Given the description of an element on the screen output the (x, y) to click on. 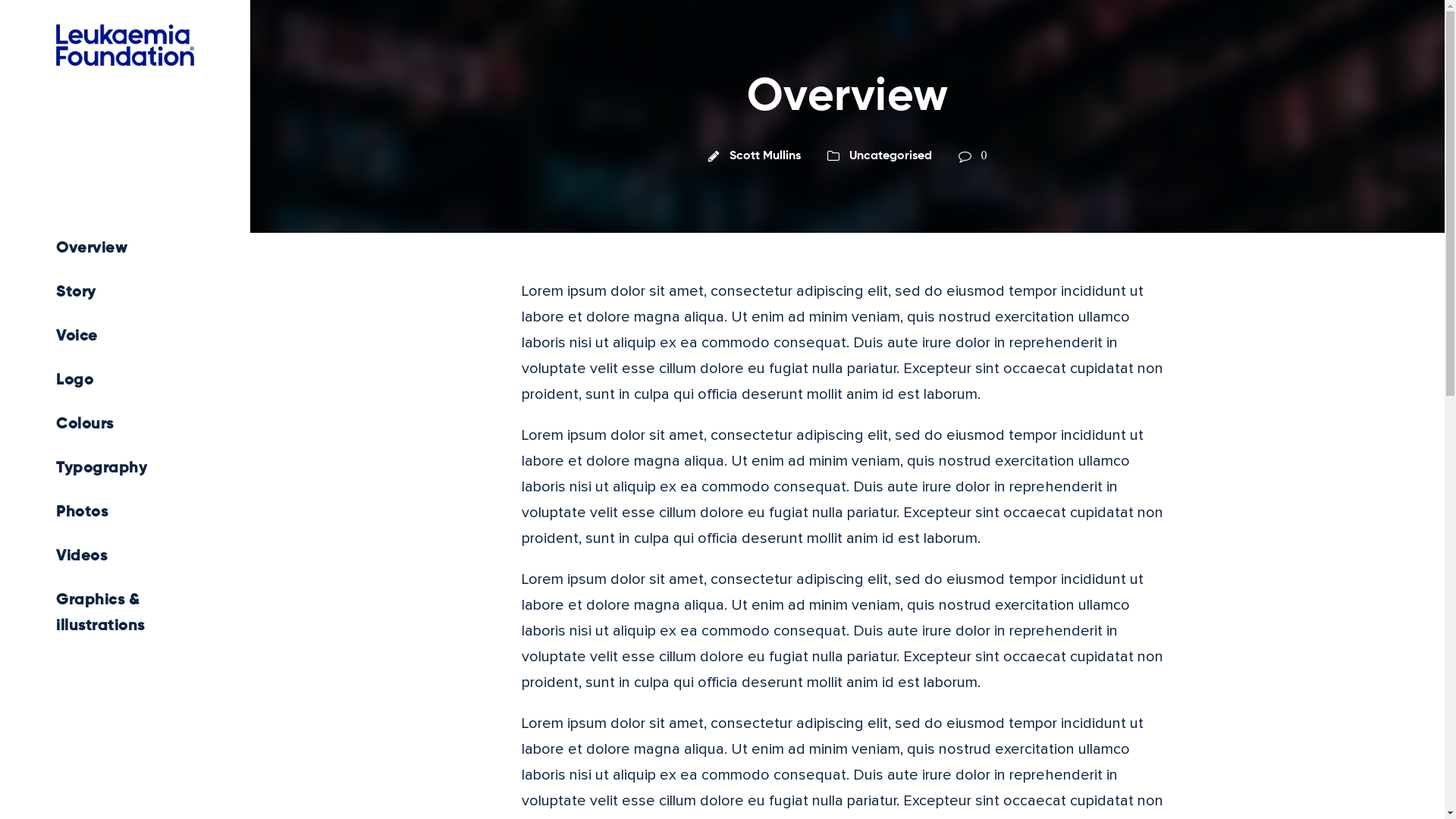
Story Element type: text (125, 292)
Scott Mullins Element type: text (764, 156)
Voice Element type: text (125, 336)
Photos Element type: text (125, 512)
Graphics & illustrations Element type: text (125, 613)
Typography Element type: text (125, 468)
Overview Element type: text (125, 248)
Uncategorised Element type: text (890, 156)
LF-Wordmark-RGB Element type: hover (125, 44)
Logo Element type: text (125, 380)
Colours Element type: text (125, 424)
Videos Element type: text (125, 556)
